Given the description of an element on the screen output the (x, y) to click on. 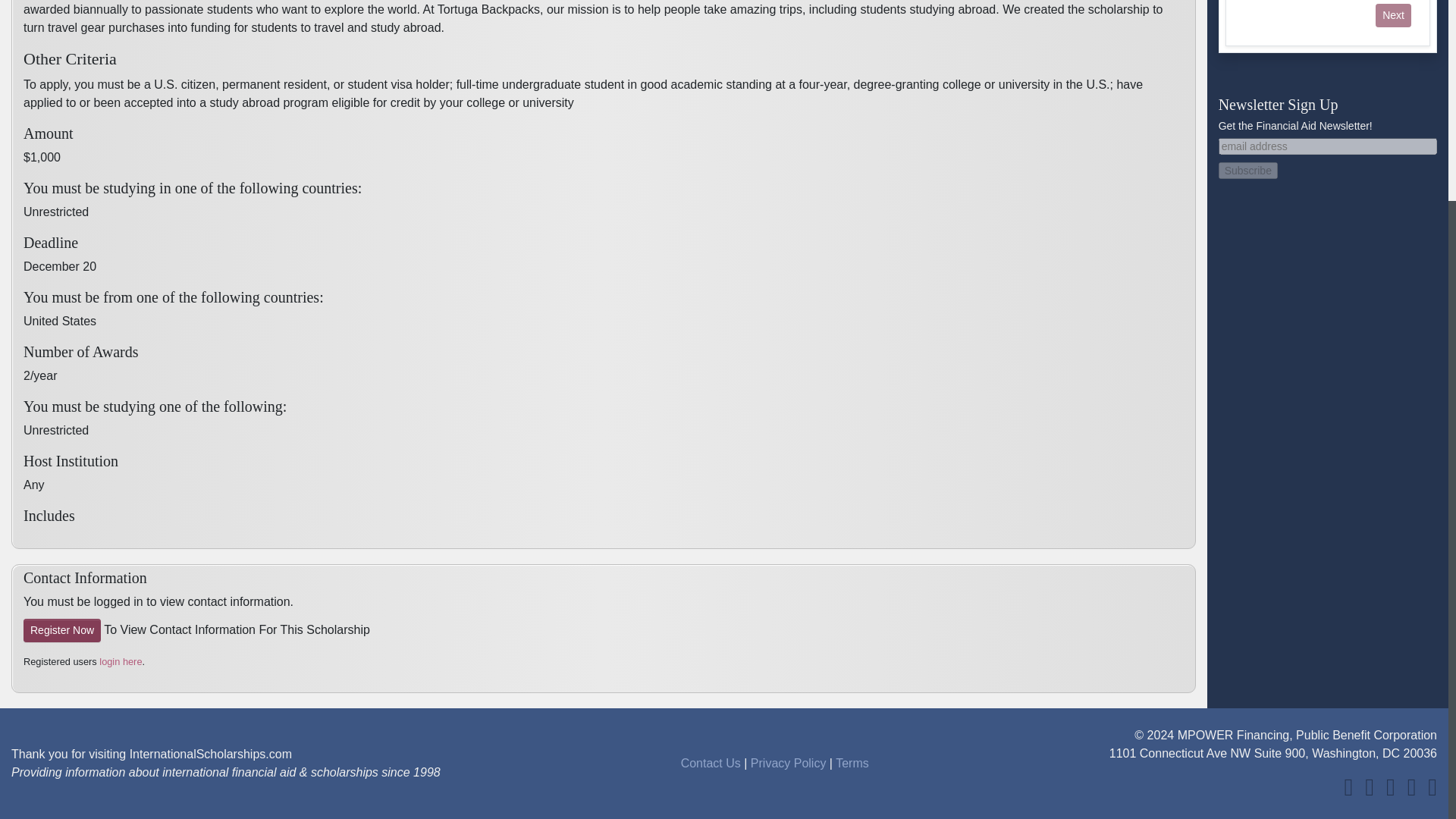
Next (1392, 15)
Contact Us (711, 762)
Subscribe (1248, 170)
Terms (852, 762)
Subscribe (1248, 170)
Privacy Policy (789, 762)
login here (120, 661)
Register Now (61, 630)
